Given the description of an element on the screen output the (x, y) to click on. 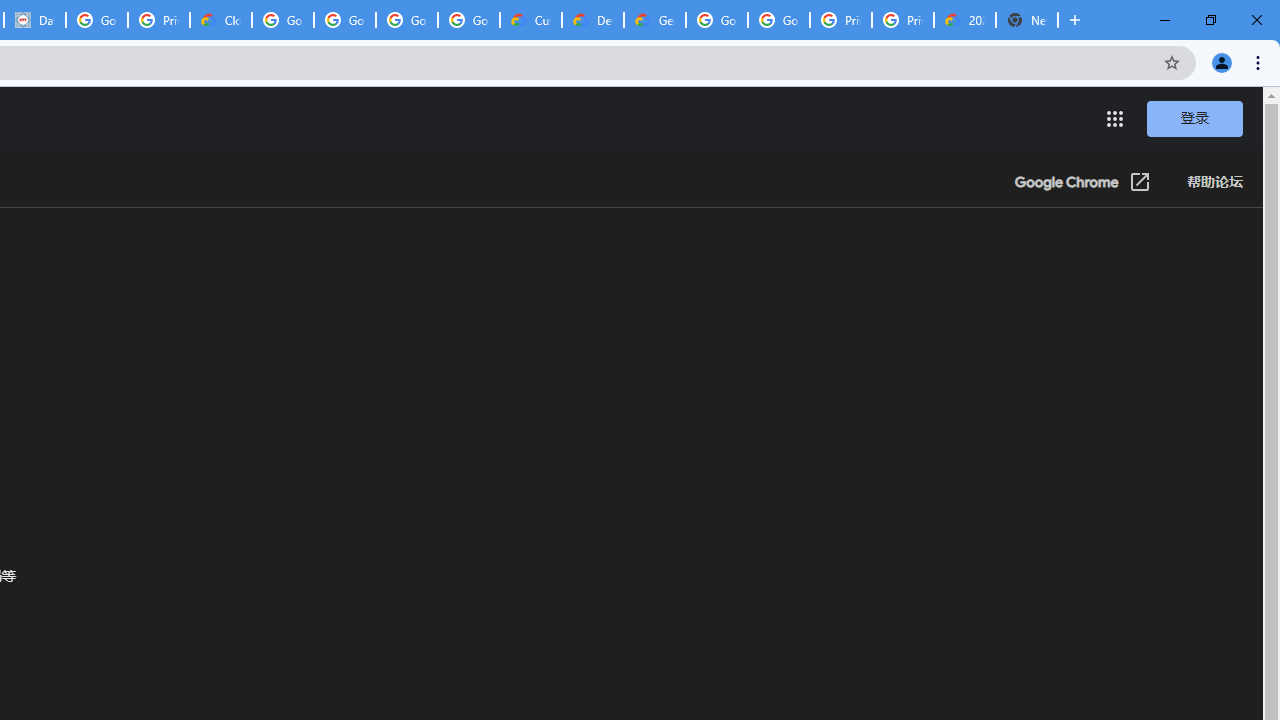
Gemini for Business and Developers | Google Cloud (654, 20)
New Tab (1026, 20)
Google Cloud Platform (778, 20)
Customer Care | Google Cloud (530, 20)
Cloud Data Processing Addendum | Google Cloud (220, 20)
